Given the description of an element on the screen output the (x, y) to click on. 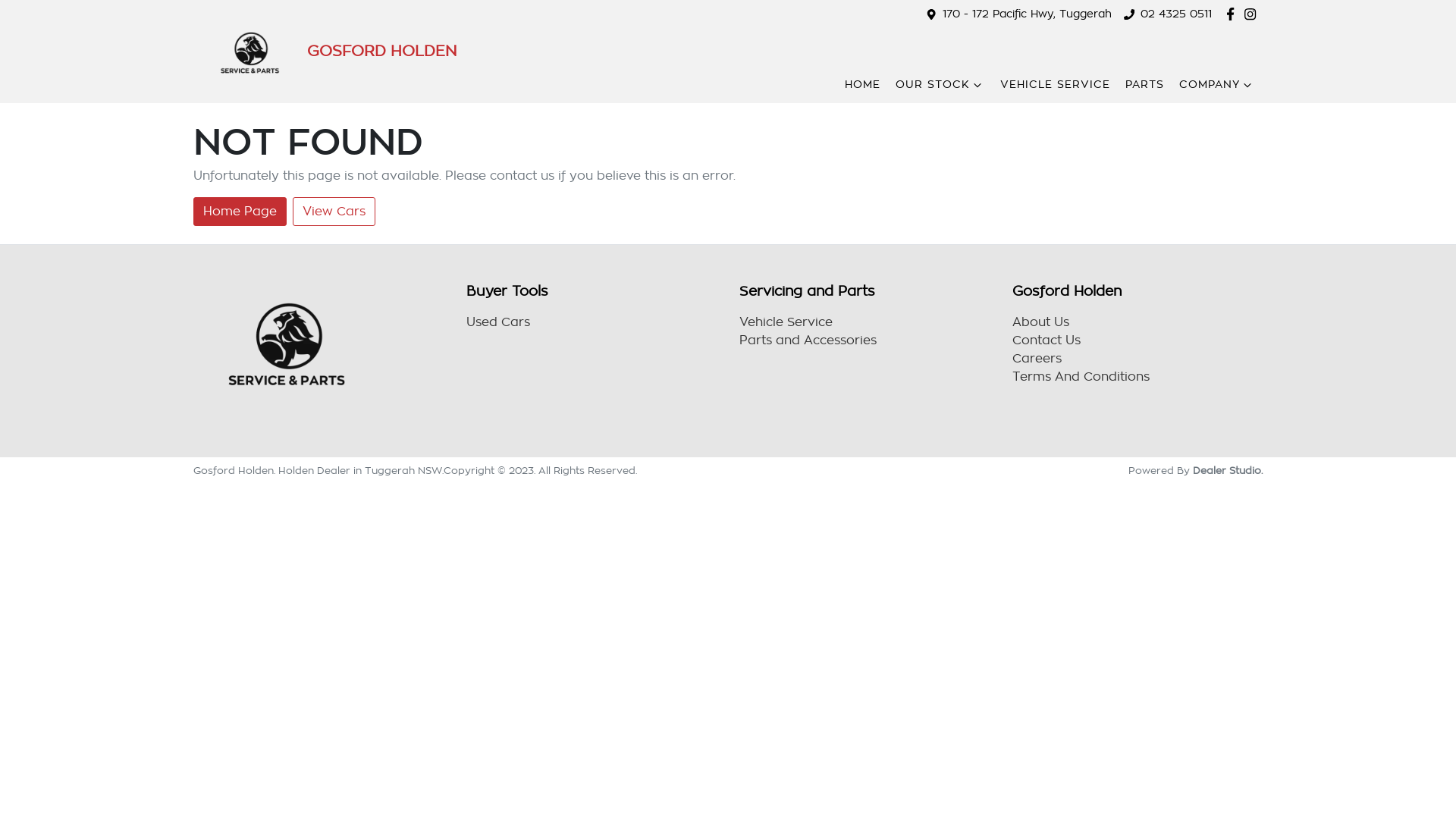
OUR STOCK Element type: text (940, 84)
View Cars Element type: text (333, 211)
HOME Element type: text (862, 84)
Used Cars Element type: text (498, 322)
About Us Element type: text (1040, 322)
Home Page Element type: text (239, 211)
VEHICLE SERVICE Element type: text (1055, 84)
Dealer Studio. Element type: text (1227, 470)
Terms And Conditions Element type: text (1080, 376)
Vehicle Service Element type: text (785, 322)
GOSFORD HOLDEN Element type: text (324, 51)
PARTS Element type: text (1144, 84)
Careers Element type: text (1036, 358)
170 - 172 Pacific Hwy, Tuggerah Element type: text (1026, 13)
02 4325 0511 Element type: text (1175, 13)
COMPANY Element type: text (1216, 84)
Contact Us Element type: text (1046, 340)
Parts and Accessories Element type: text (807, 340)
